Given the description of an element on the screen output the (x, y) to click on. 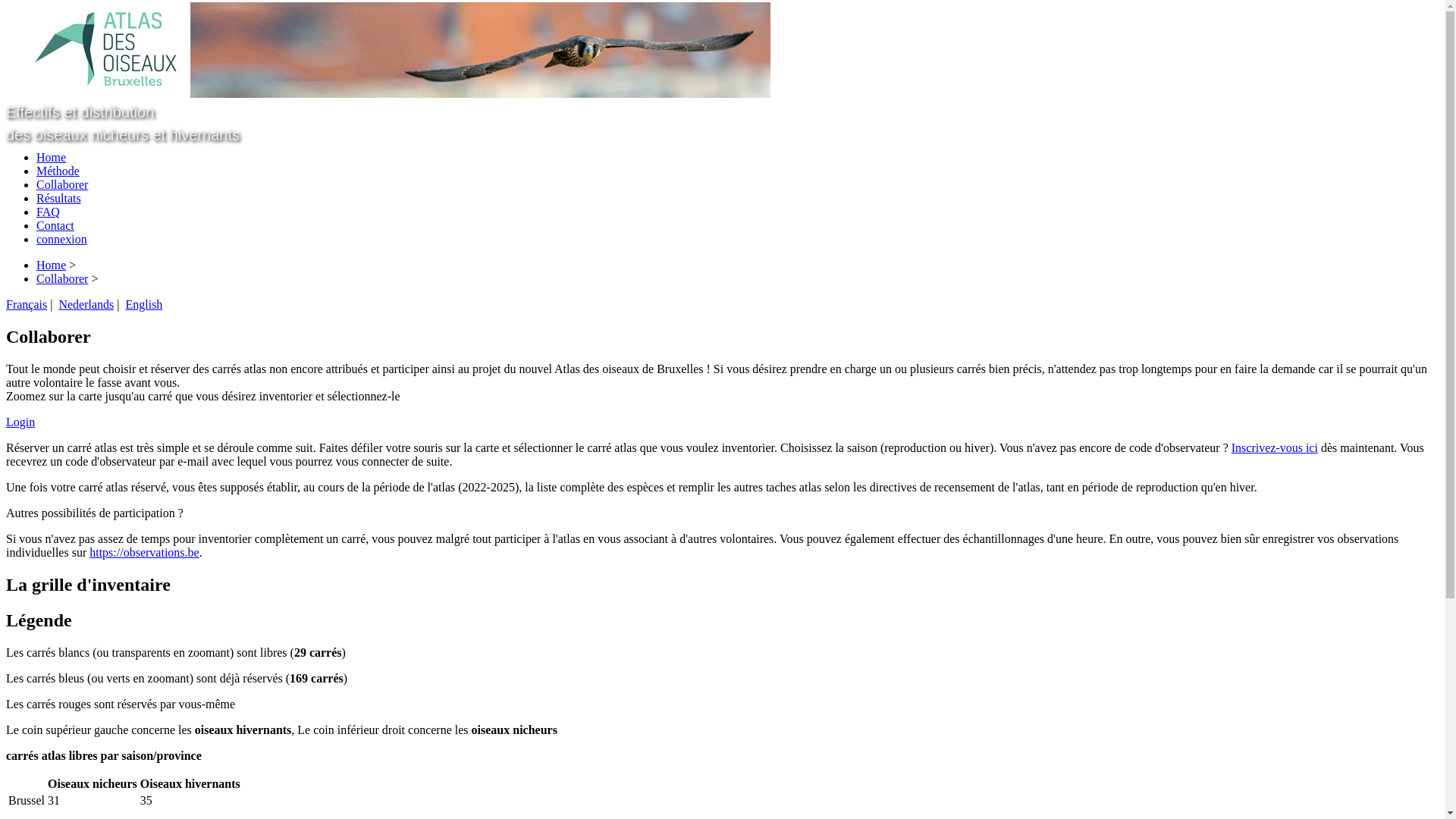
FAQ Element type: text (47, 211)
Collaborer Element type: text (61, 278)
Inscrivez-vous ici Element type: text (1274, 447)
Login Element type: text (20, 421)
Home Element type: text (50, 156)
Collaborer Element type: text (61, 184)
connexion Element type: text (61, 238)
Contact Element type: text (55, 225)
https://observations.be Element type: text (143, 552)
English Element type: text (143, 304)
Nederlands Element type: text (85, 304)
Home Element type: text (50, 264)
